Given the description of an element on the screen output the (x, y) to click on. 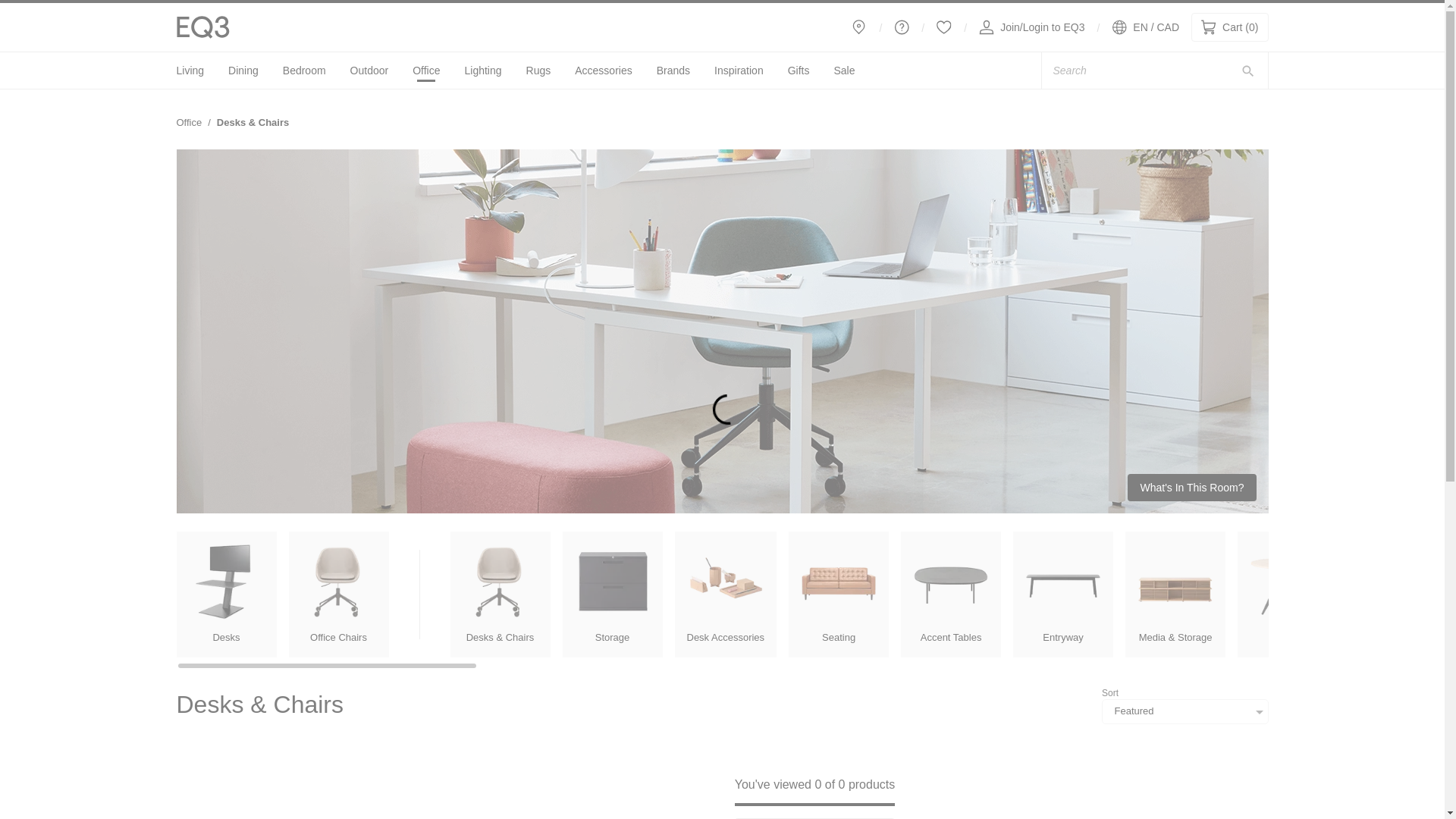
Sale (843, 70)
Rugs (538, 70)
Help (944, 26)
Store Finder (901, 26)
Inspiration (858, 26)
Living (738, 70)
Office (189, 70)
Lighting (189, 122)
Bedroom (483, 70)
